Given the description of an element on the screen output the (x, y) to click on. 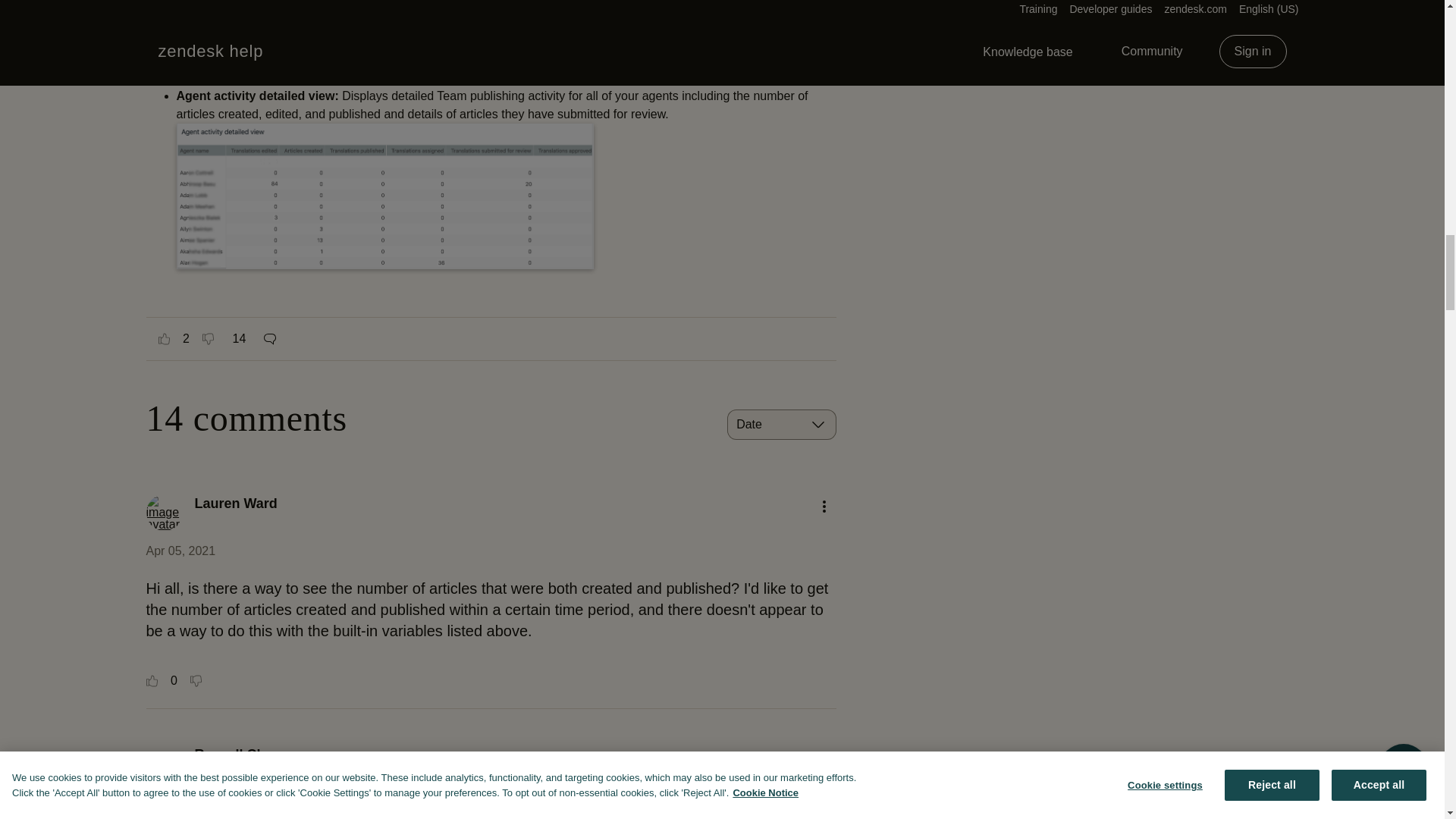
Apr 05, 2021 (180, 550)
Apr 20, 2021 (180, 804)
